Given the description of an element on the screen output the (x, y) to click on. 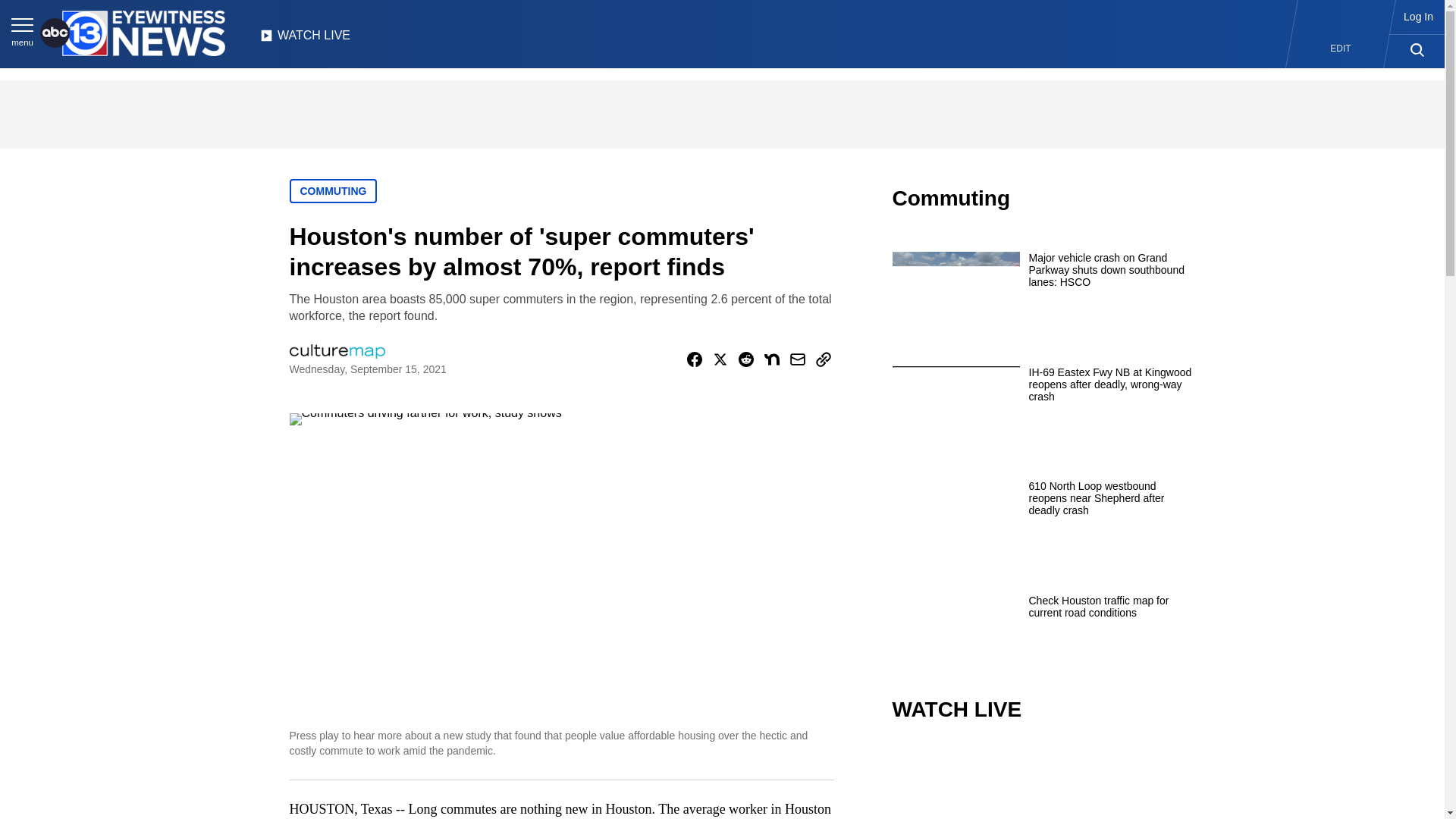
EDIT (1340, 48)
WATCH LIVE (305, 39)
video.title (1043, 781)
